Given the description of an element on the screen output the (x, y) to click on. 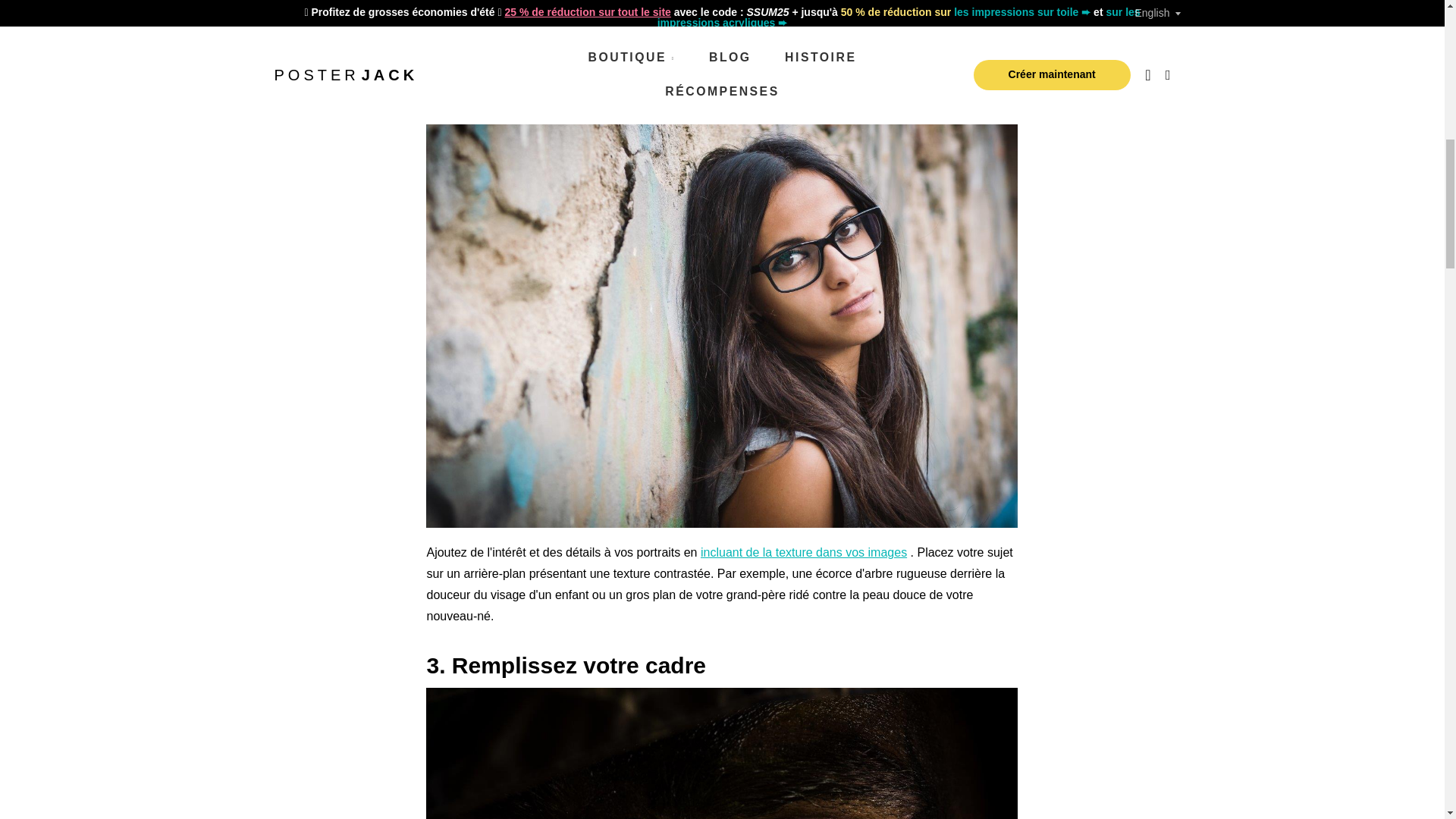
Inclure la texture dans votre photographie (803, 552)
